Given the description of an element on the screen output the (x, y) to click on. 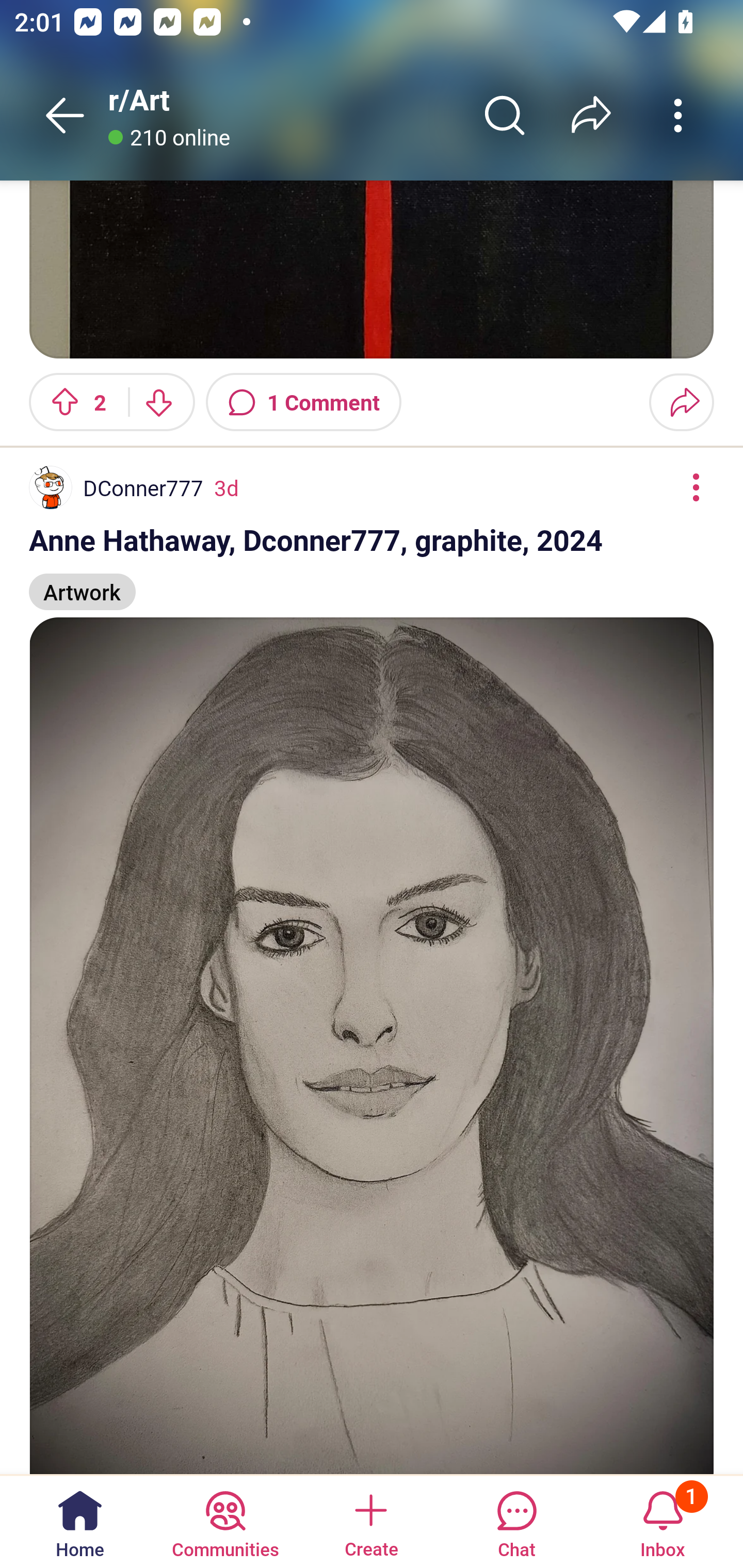
Back (64, 115)
Search r/﻿Art (504, 115)
Share r/﻿Art (591, 115)
More community actions (677, 115)
Artwork (81, 582)
Home (80, 1520)
Communities (225, 1520)
Create a post Create (370, 1520)
Chat (516, 1520)
Inbox, has 1 notification 1 Inbox (662, 1520)
